Given the description of an element on the screen output the (x, y) to click on. 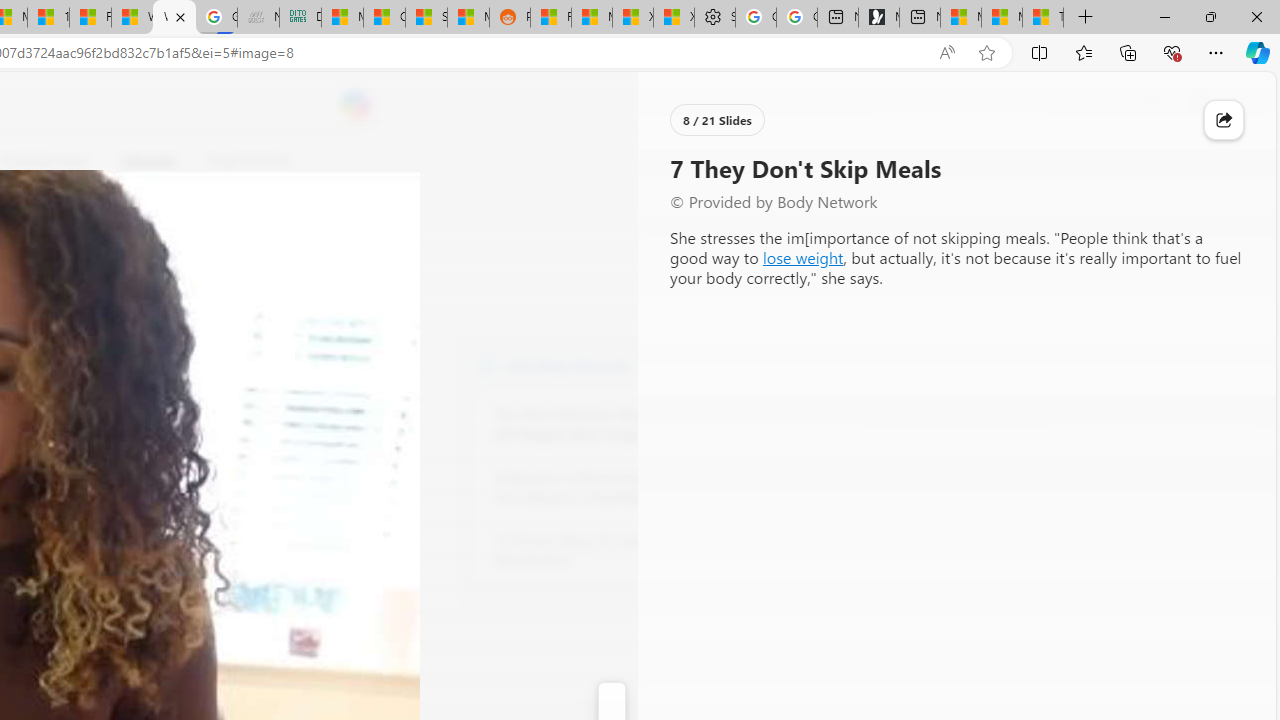
DITOGAMES AG Imprint (300, 17)
Lifestyle (148, 162)
8 Reasons to Drink Kombucha, According to a Nutritionist (603, 488)
Food & Drink (249, 162)
New Tab (1085, 17)
Food & Drink (240, 162)
Read aloud this page (Ctrl+Shift+U) (946, 53)
Body Network (486, 364)
Browser essentials (1171, 52)
These 3 Stocks Pay You More Than 5% to Own Them (1042, 17)
R******* | Trusted Community Engagement and Contributions (550, 17)
Notifications (1192, 105)
Navy Quest (258, 17)
